Given the description of an element on the screen output the (x, y) to click on. 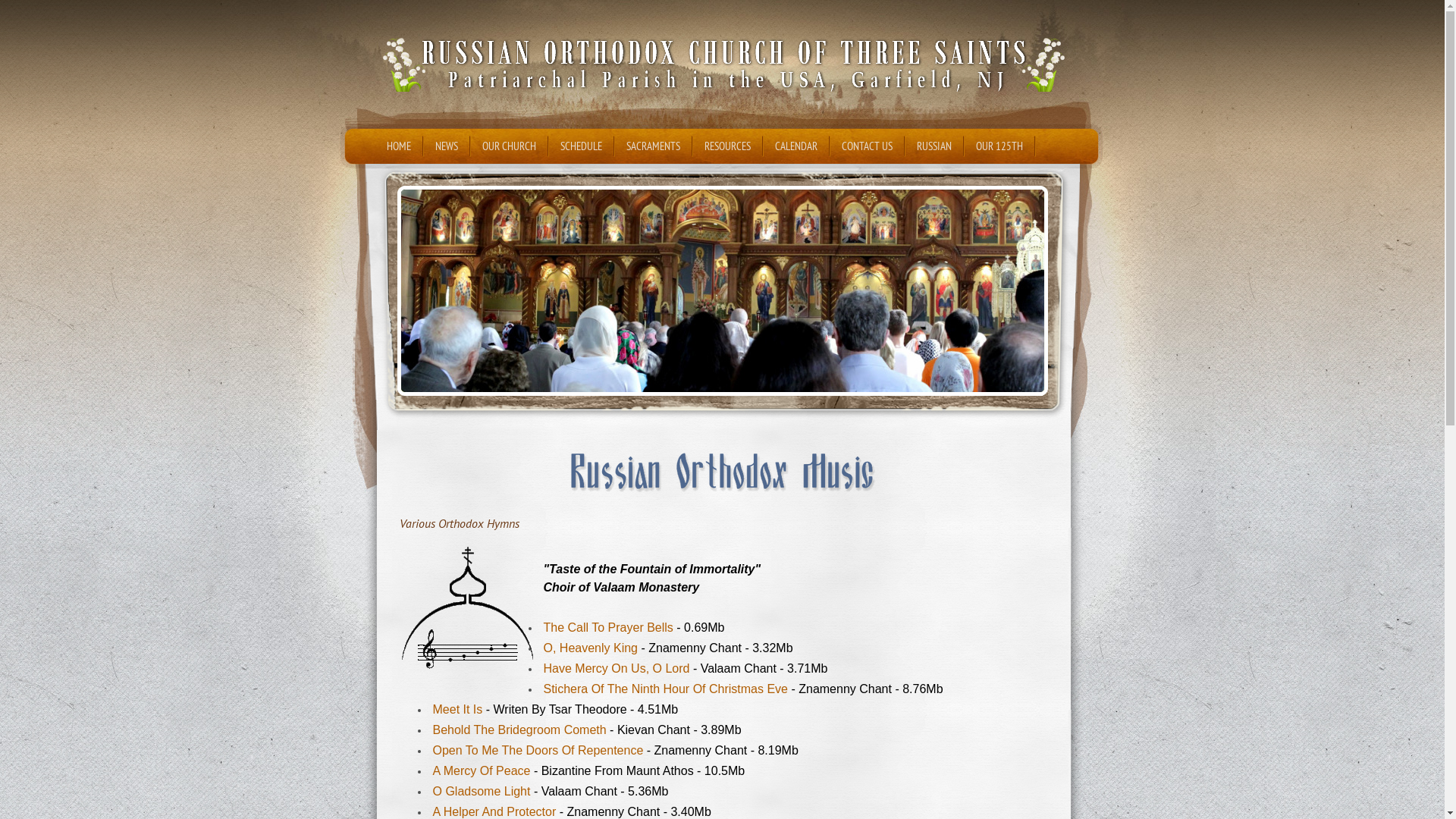
HOME Element type: text (397, 145)
RUSSIAN Element type: text (934, 145)
CONTACT US Element type: text (866, 145)
Open To Me The Doors Of Repentence Element type: text (537, 749)
Meet It Is Element type: text (457, 708)
SCHEDULE Element type: text (581, 145)
O Gladsome Light Element type: text (481, 790)
A Helper And Protector Element type: text (493, 811)
Behold The Bridegroom Cometh Element type: text (518, 729)
RESOURCES Element type: text (727, 145)
The Call To Prayer Bells Element type: text (607, 627)
OUR 125TH Element type: text (999, 145)
CALENDAR Element type: text (795, 145)
Stichera Of The Ninth Hour Of Christmas Eve Element type: text (664, 688)
Have Mercy On Us, O Lord Element type: text (615, 668)
NEWS Element type: text (445, 145)
A Mercy Of Peace Element type: text (481, 770)
SACRAMENTS Element type: text (652, 145)
O, Heavenly King Element type: text (589, 647)
OUR CHURCH Element type: text (508, 145)
